Given the description of an element on the screen output the (x, y) to click on. 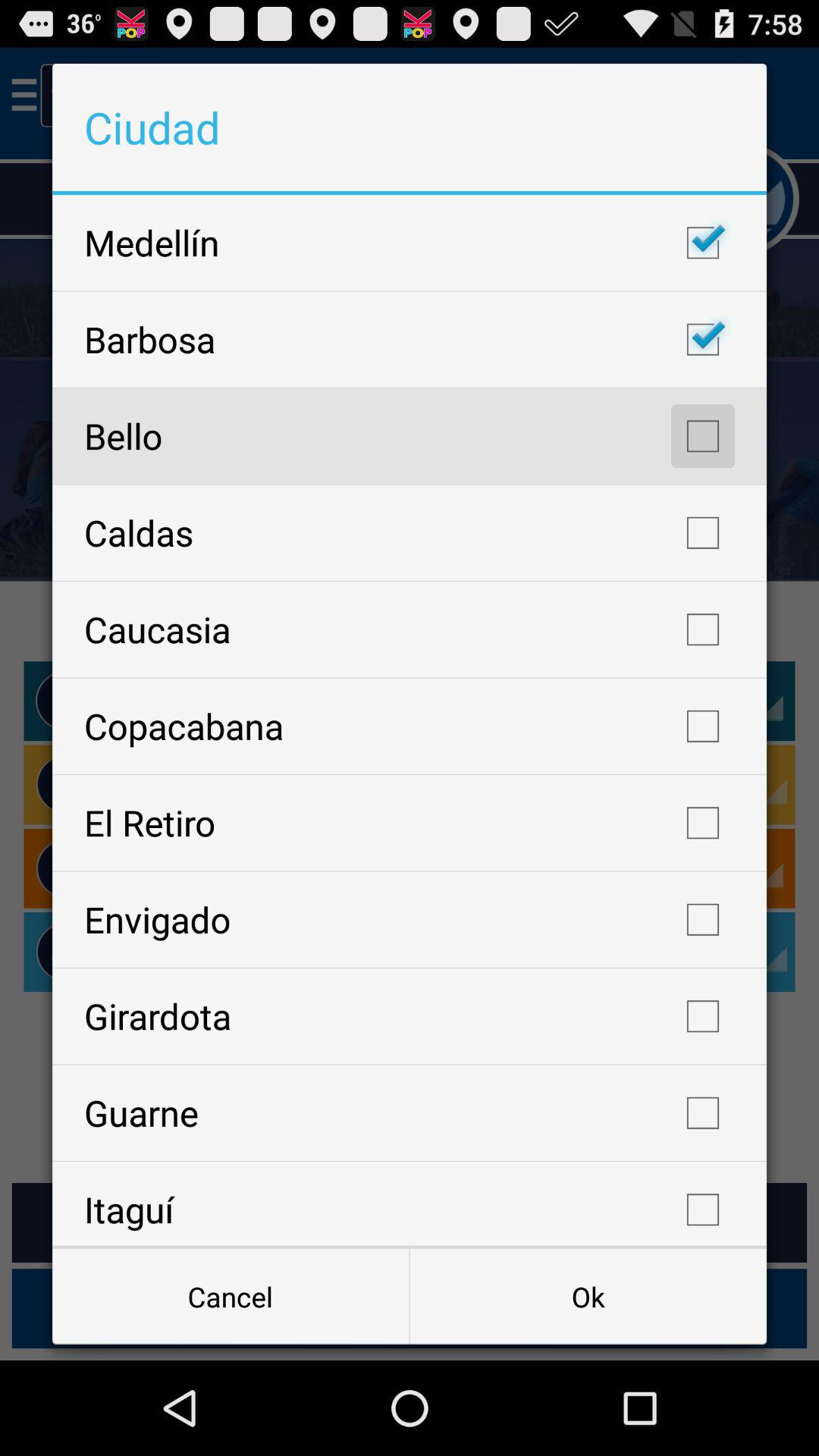
press the button to the left of ok icon (230, 1296)
